Given the description of an element on the screen output the (x, y) to click on. 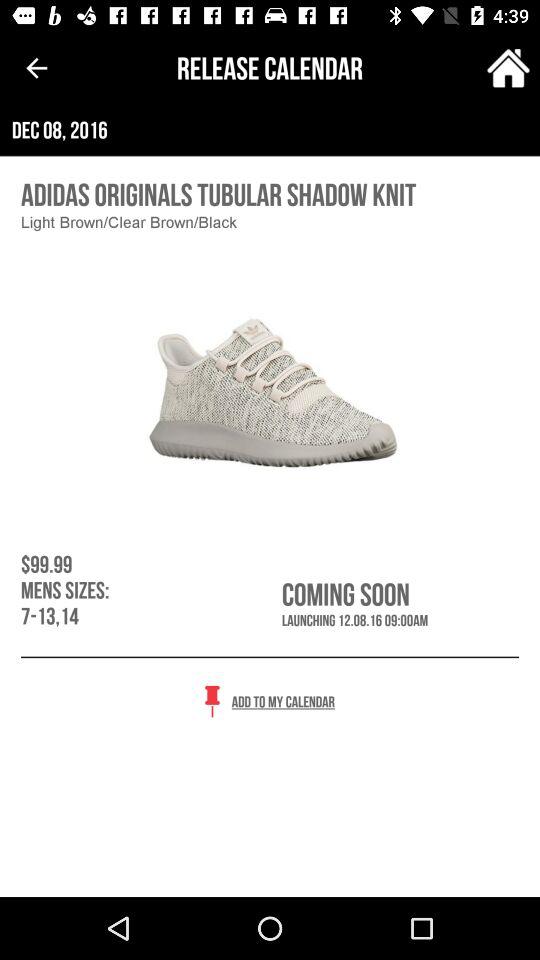
turn on the item at the top right corner (508, 67)
